Given the description of an element on the screen output the (x, y) to click on. 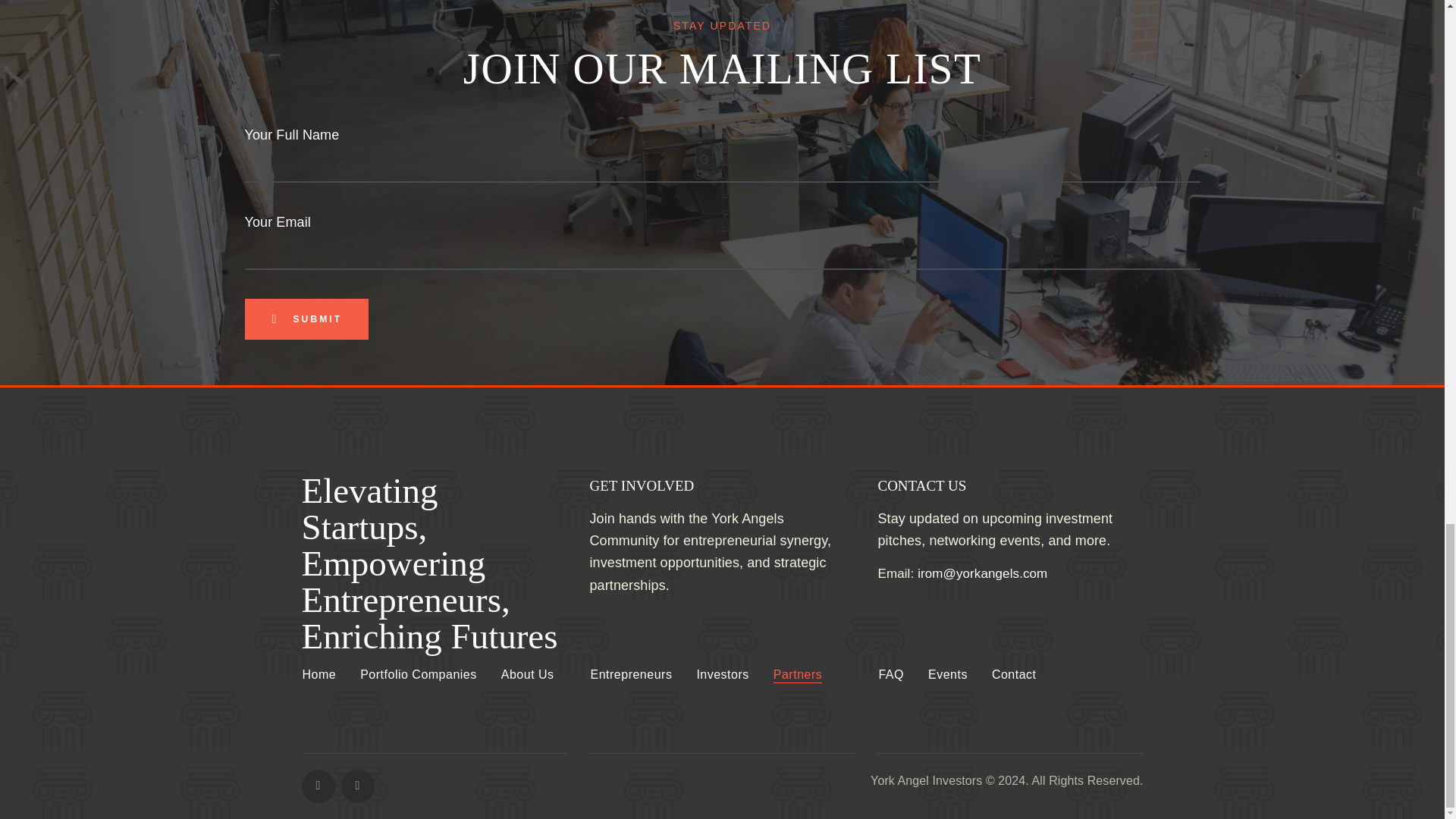
Submit (306, 318)
